Given the description of an element on the screen output the (x, y) to click on. 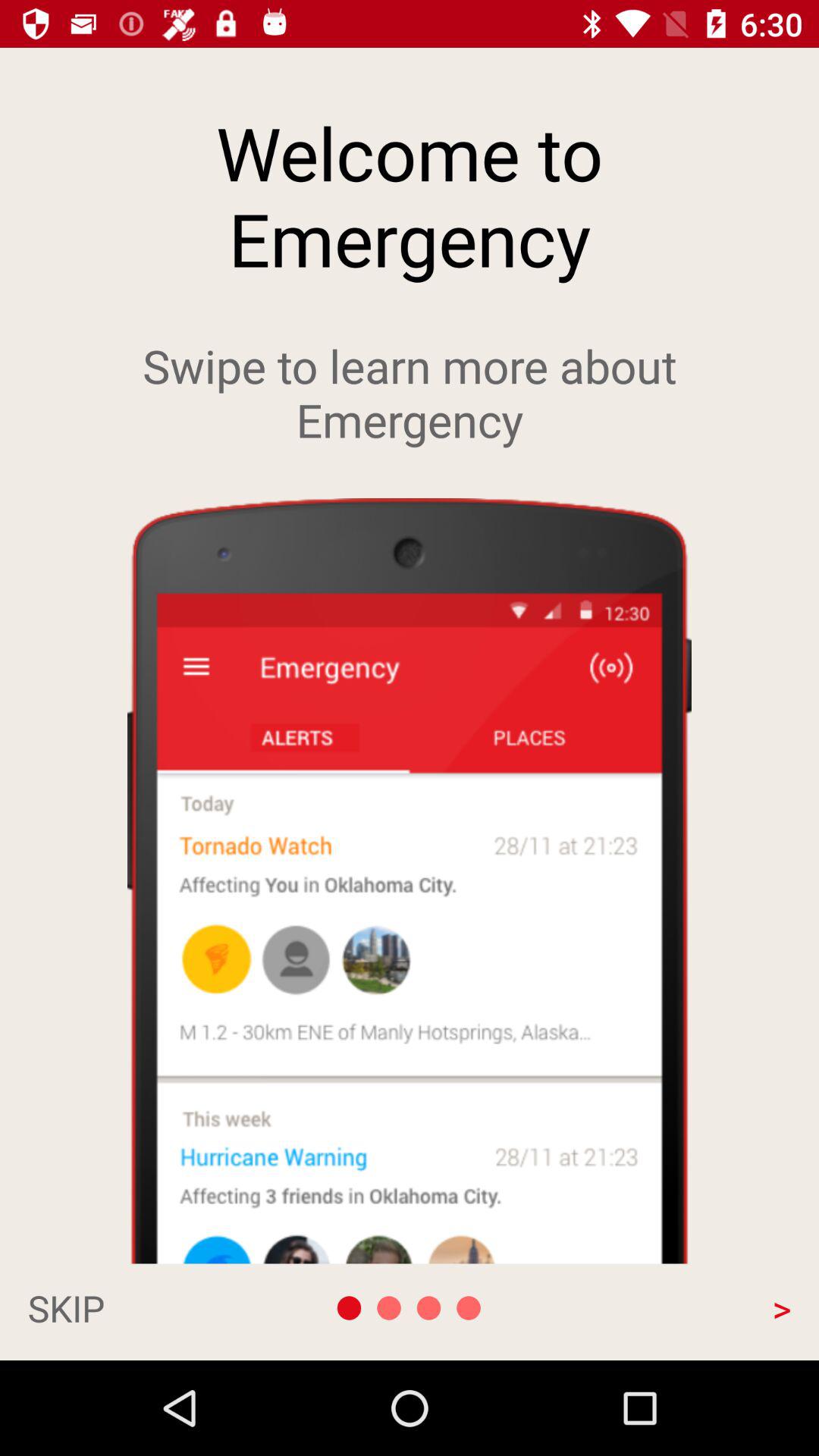
swipe to the skip icon (141, 1307)
